Given the description of an element on the screen output the (x, y) to click on. 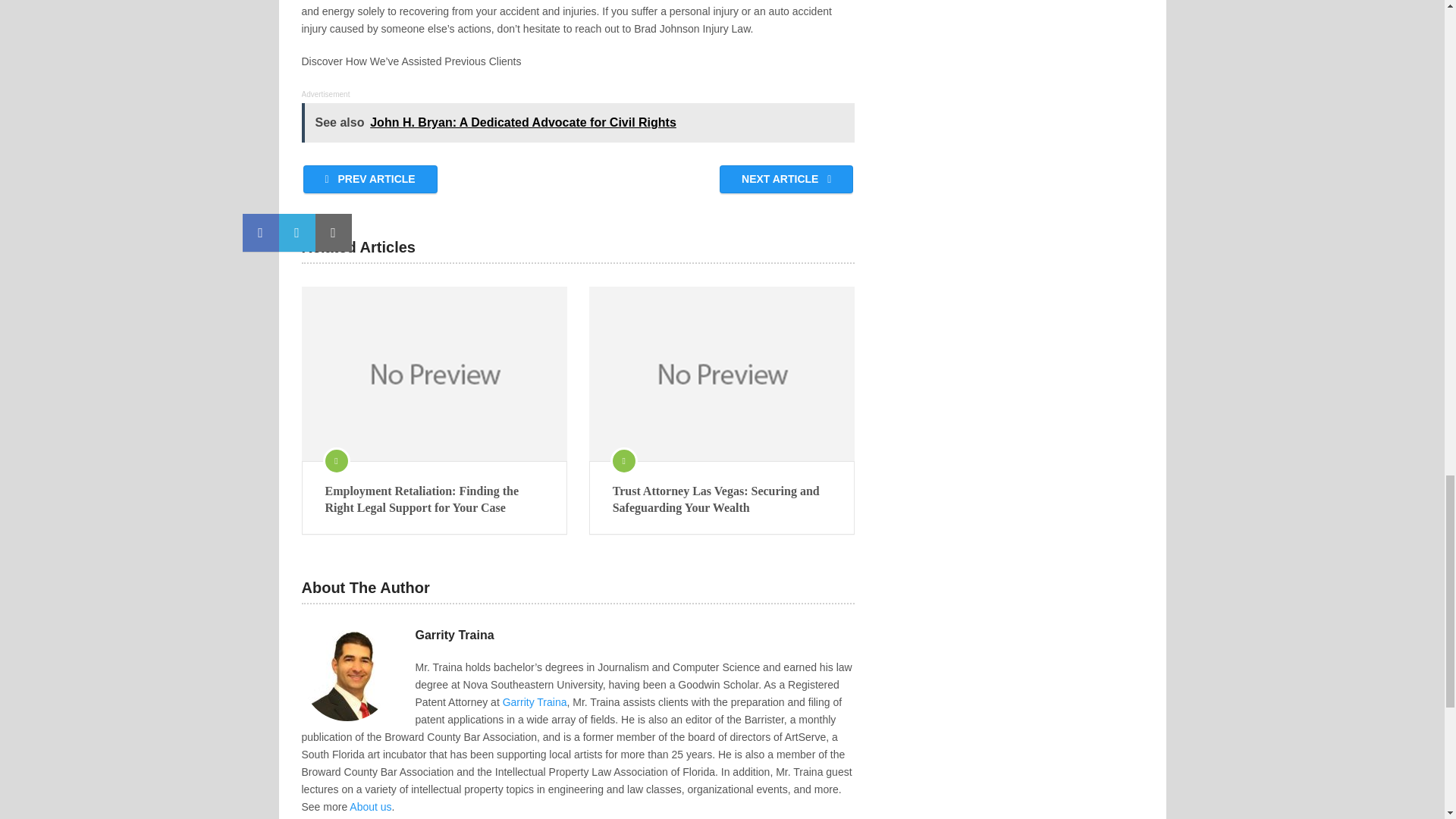
NEXT ARTICLE (786, 179)
PREV ARTICLE (370, 179)
About us (370, 806)
Garrity Traina (454, 635)
Garrity Traina (534, 702)
